Given the description of an element on the screen output the (x, y) to click on. 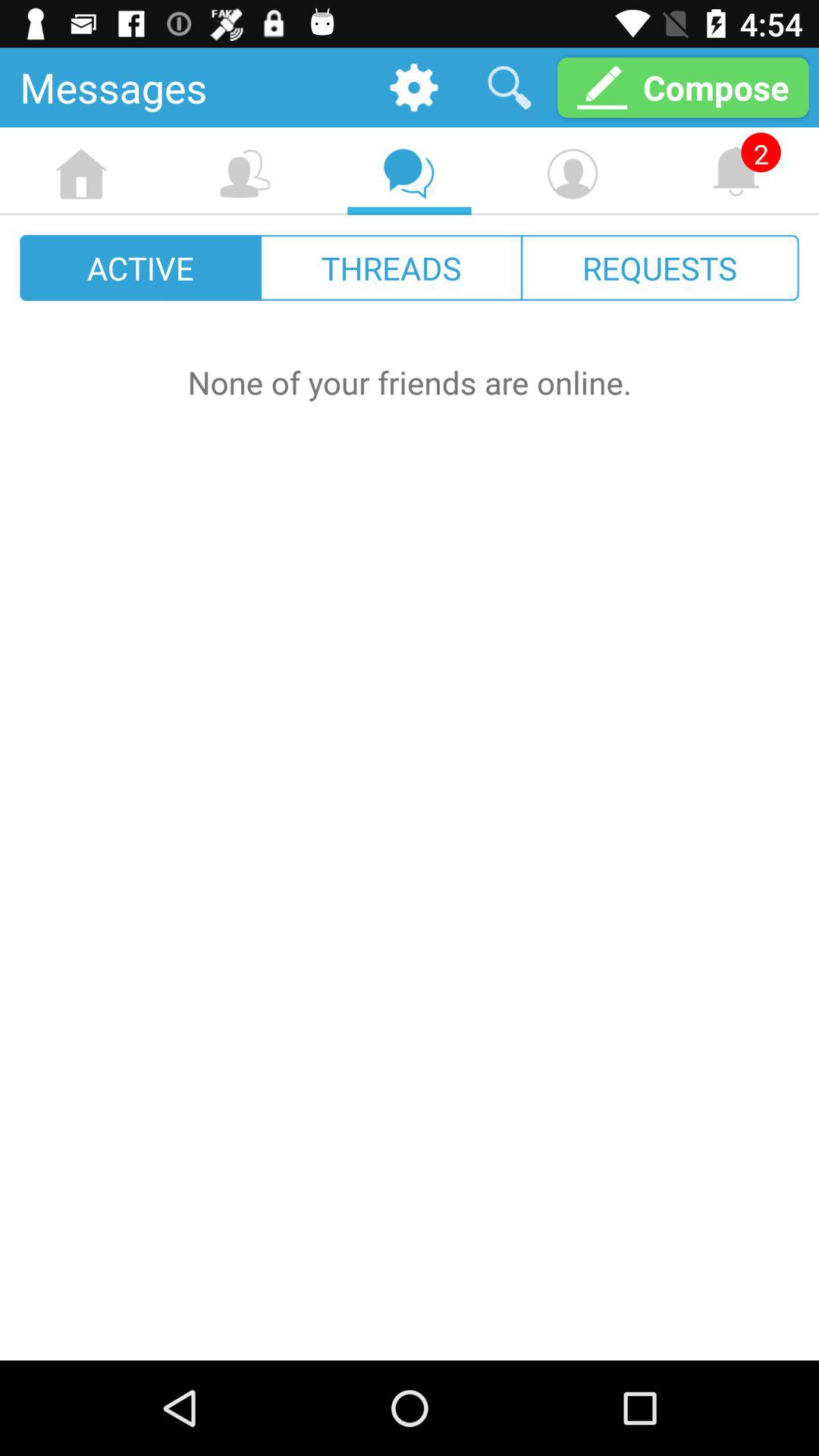
turn on the icon to the left of the requests (390, 267)
